Given the description of an element on the screen output the (x, y) to click on. 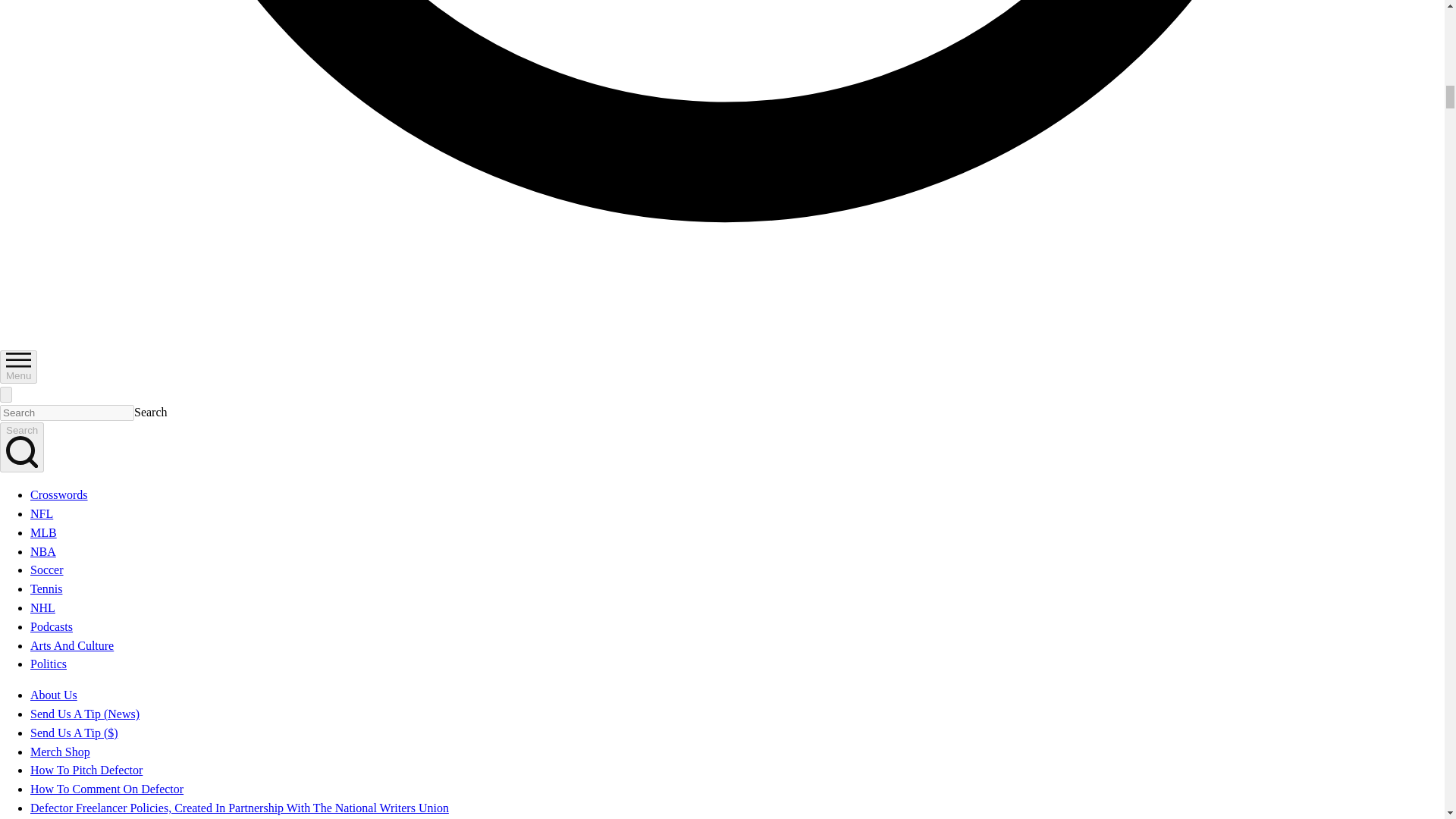
Merch Shop (60, 751)
MLB (43, 532)
About Us (53, 694)
Arts And Culture (71, 645)
Politics (48, 663)
Crosswords (58, 494)
NHL (42, 607)
How To Comment On Defector (106, 788)
Podcasts (51, 626)
